Given the description of an element on the screen output the (x, y) to click on. 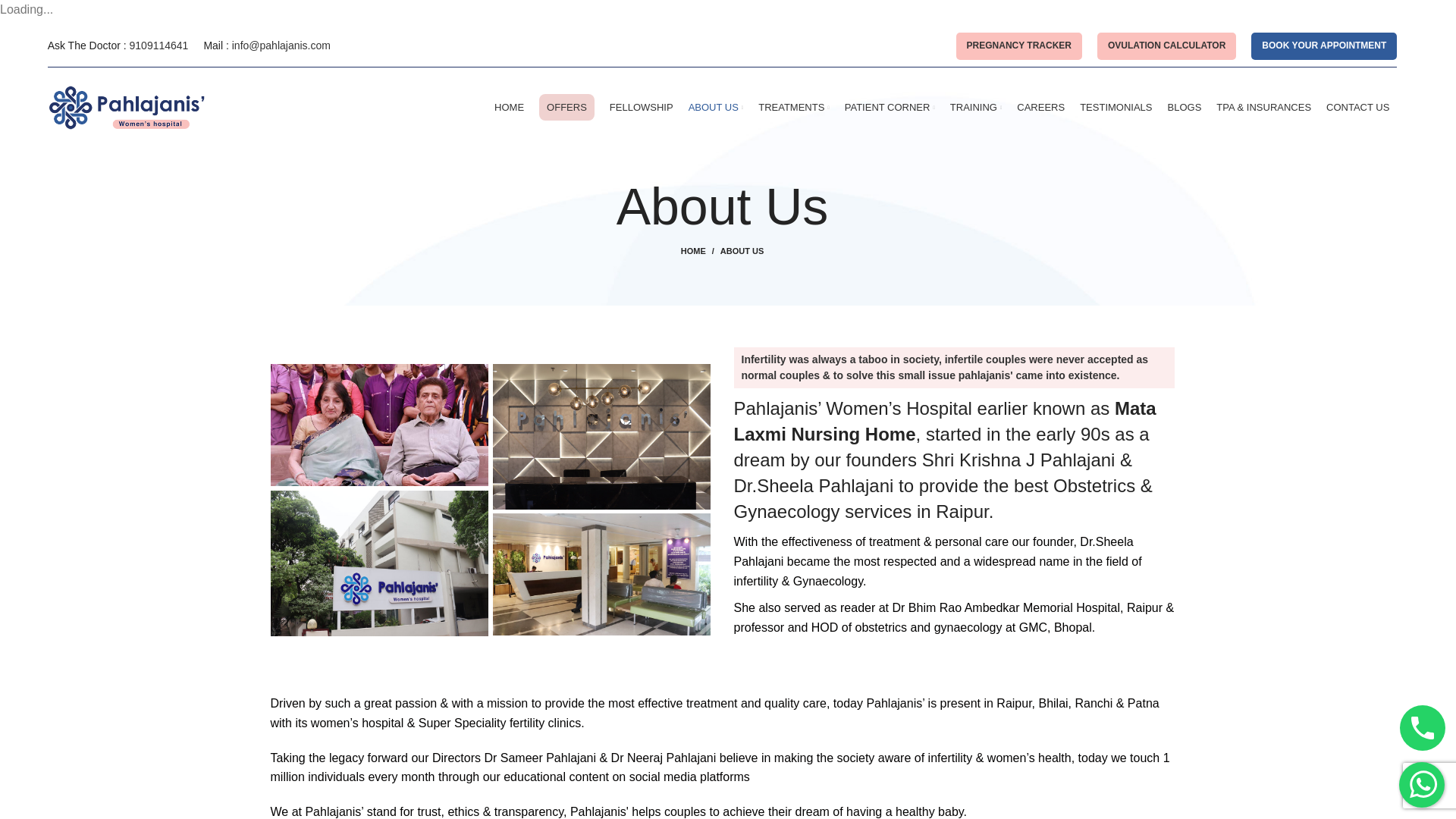
BOOK YOUR APPOINTMENT (1323, 45)
TRAINING (976, 107)
PATIENT CORNER (889, 107)
TREATMENTS (793, 107)
OVULATION CALCULATOR (1166, 45)
9109114641 (159, 45)
ABOUT US (716, 107)
HOME (509, 107)
OFFERS (566, 107)
FELLOWSHIP (641, 107)
PREGNANCY TRACKER (1018, 45)
